Given the description of an element on the screen output the (x, y) to click on. 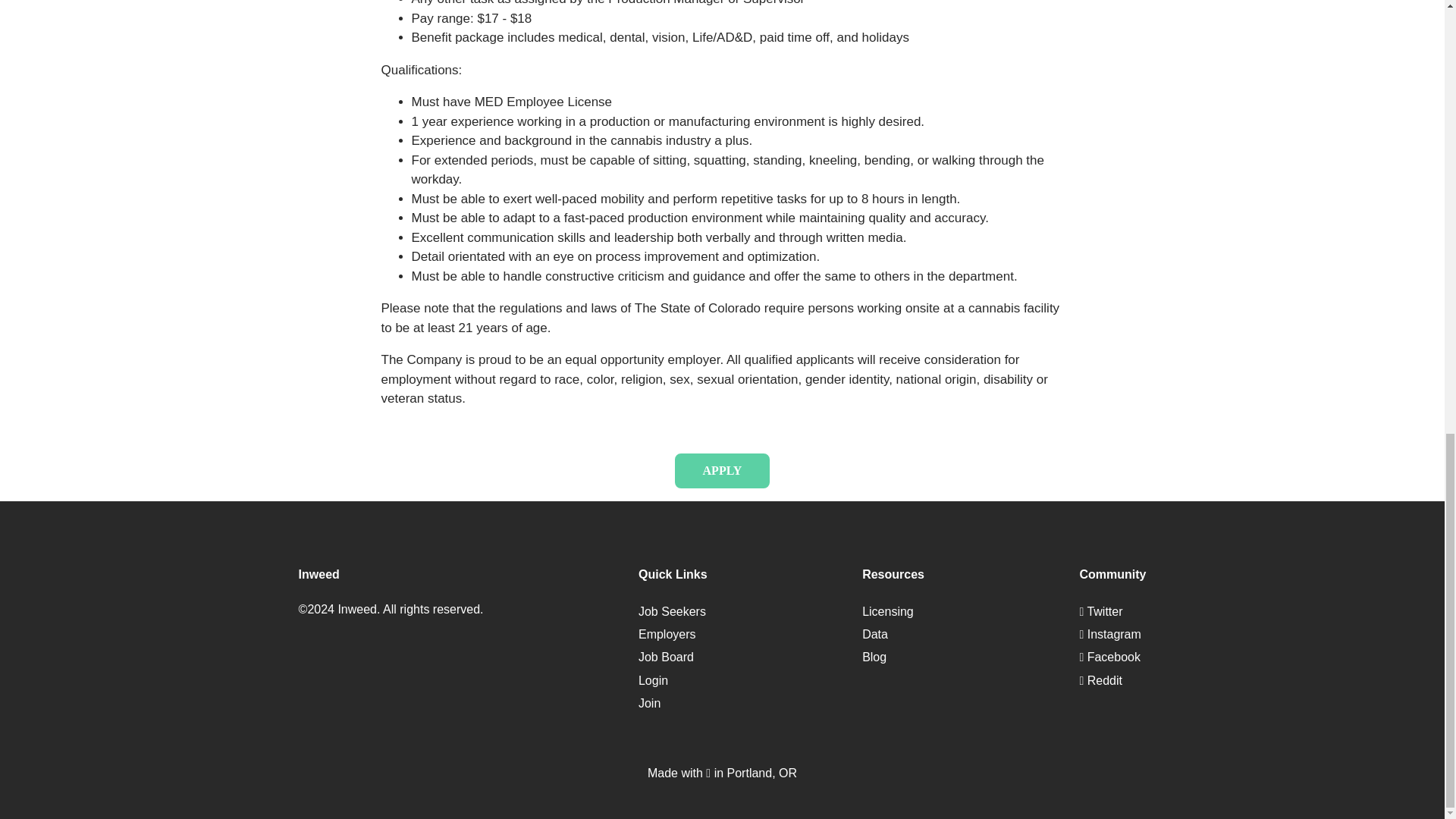
Join (650, 703)
 Facebook (1109, 656)
Employers (667, 634)
 Twitter (1100, 611)
 Reddit (1100, 680)
 Instagram (1109, 634)
APPLY (722, 470)
Job Board (666, 656)
Login (653, 680)
Job Seekers (672, 611)
